Given the description of an element on the screen output the (x, y) to click on. 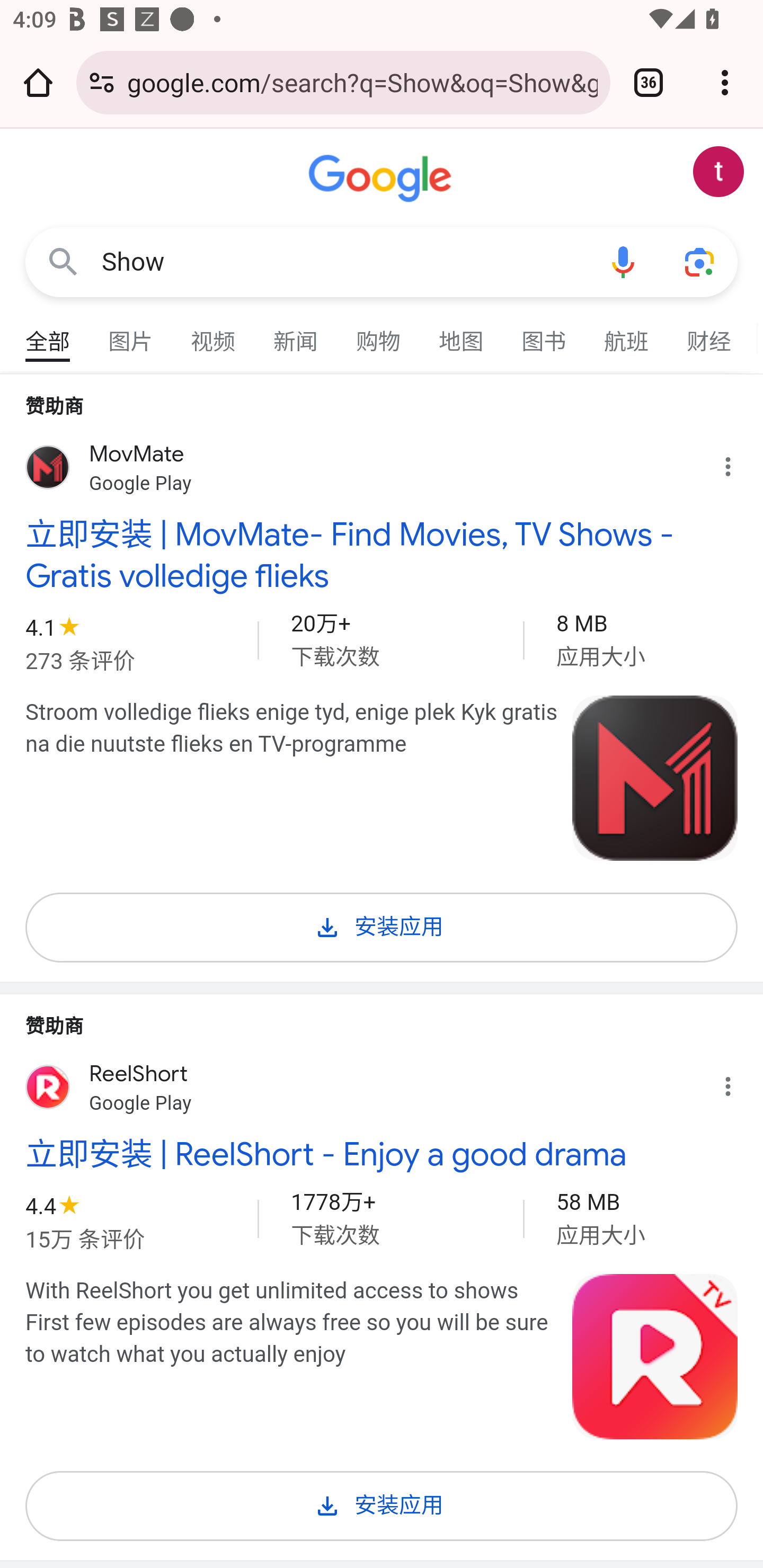
Open the home page (38, 82)
Connection is secure (101, 82)
Switch or close tabs (648, 82)
Customize and control Google Chrome (724, 82)
Google (381, 179)
Google 账号： test appium (testappium002@gmail.com) (718, 171)
Google 搜索 (63, 262)
使用拍照功能或照片进行搜索 (699, 262)
Show (343, 261)
图片 (131, 333)
视频 (213, 333)
新闻 (296, 333)
购物 (379, 333)
地图 (461, 333)
图书 (544, 333)
航班 (627, 333)
财经 (709, 333)
为什么会显示该广告？ (738, 462)
图片来自 google.com (654, 777)
安装应用 (381, 924)
为什么会显示该广告？ (738, 1082)
立即安装 | ReelShort - Enjoy a good drama (381, 1154)
图片来自 google.com (654, 1356)
安装应用 (381, 1502)
